Given the description of an element on the screen output the (x, y) to click on. 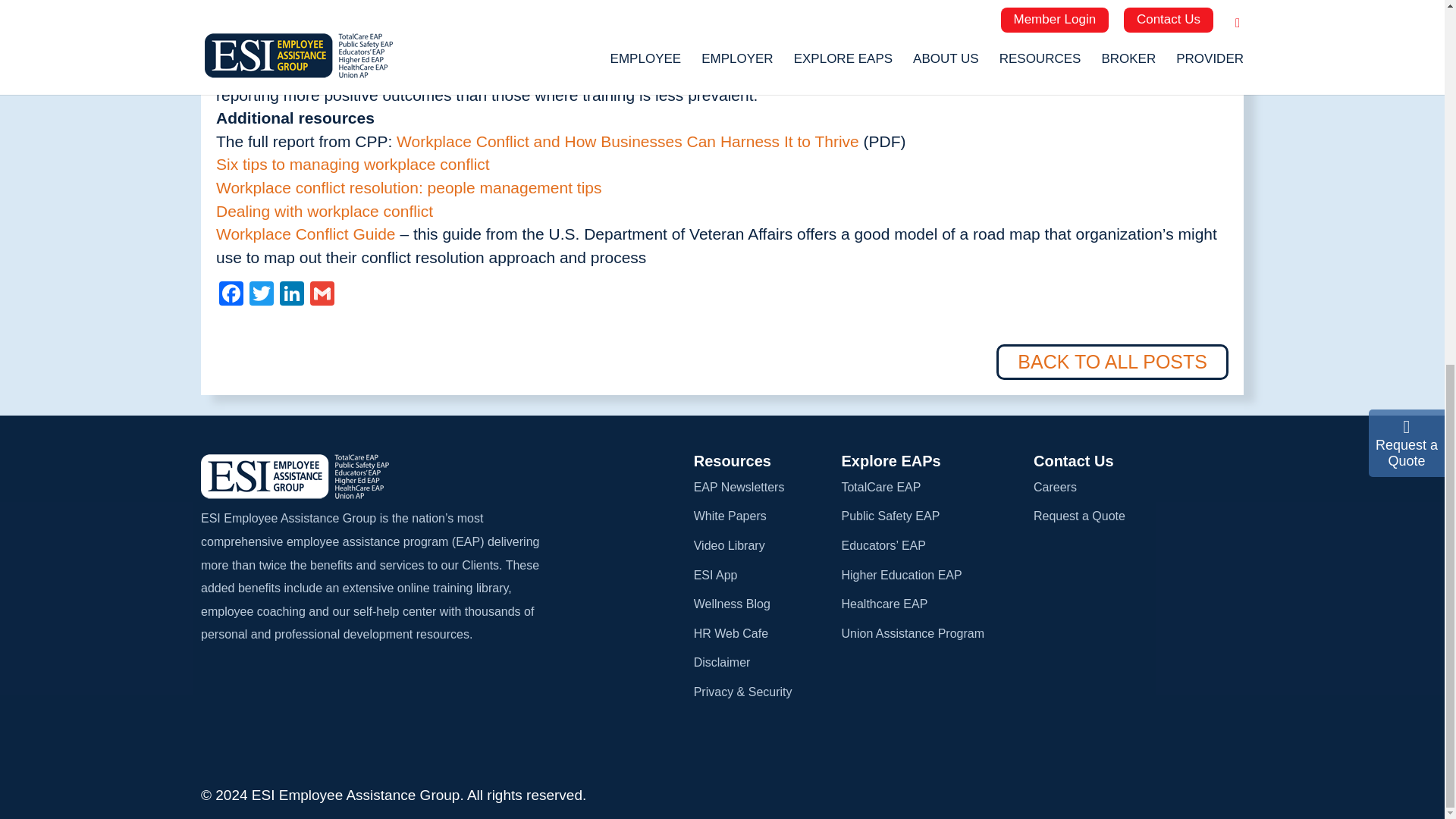
Twitter (261, 295)
Gmail (322, 295)
LinkedIn (291, 295)
Facebook (230, 295)
